Given the description of an element on the screen output the (x, y) to click on. 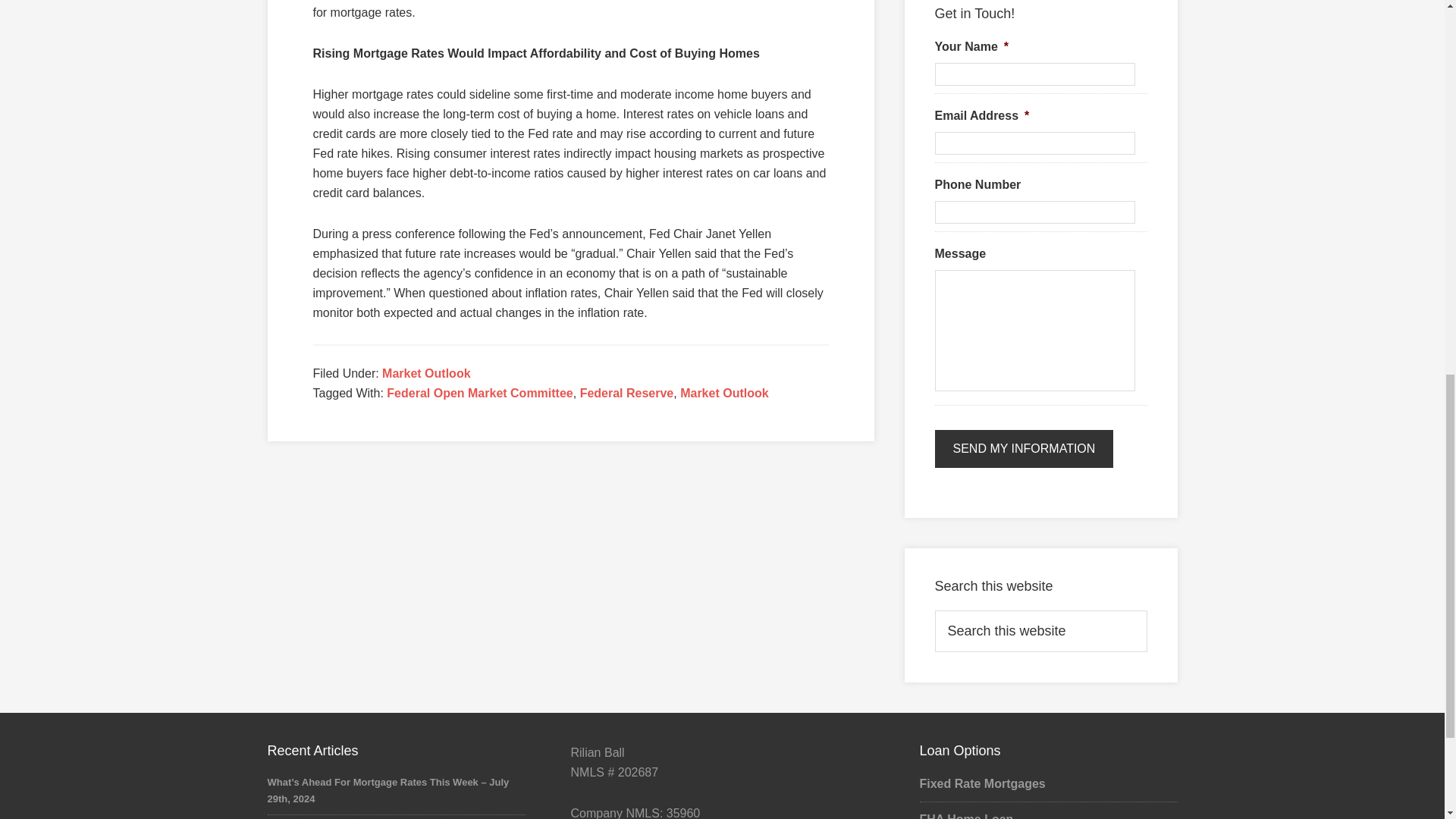
Federal Open Market Committee (479, 392)
Federal Reserve (626, 392)
Fixed Rate Mortgages (981, 783)
Market Outlook (425, 373)
FHA Home Loan (965, 816)
Send My Information (1023, 448)
Market Outlook (723, 392)
Send My Information (1023, 448)
